Given the description of an element on the screen output the (x, y) to click on. 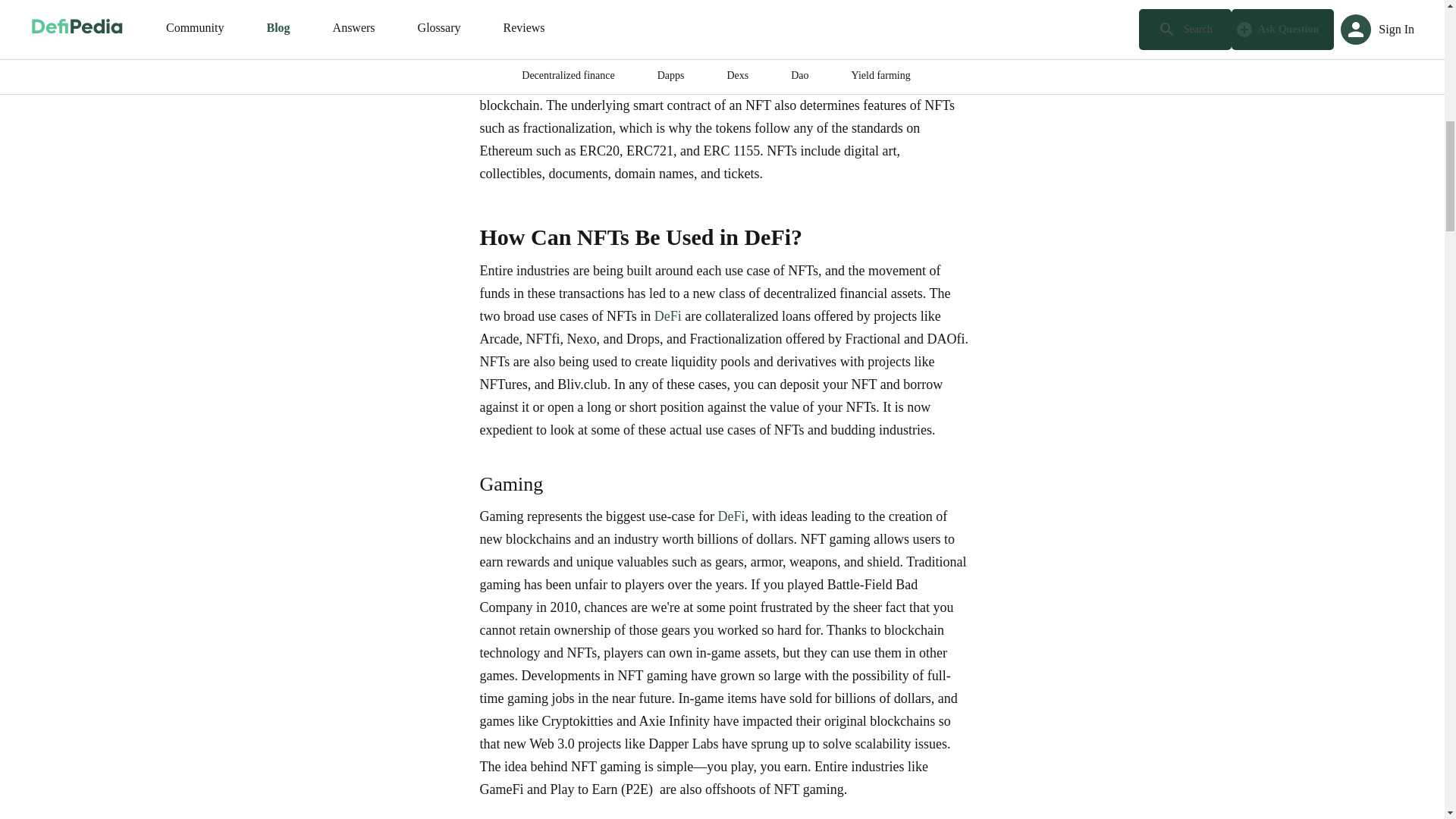
DeFi (667, 315)
smart contract (709, 52)
DeFi (730, 516)
